Given the description of an element on the screen output the (x, y) to click on. 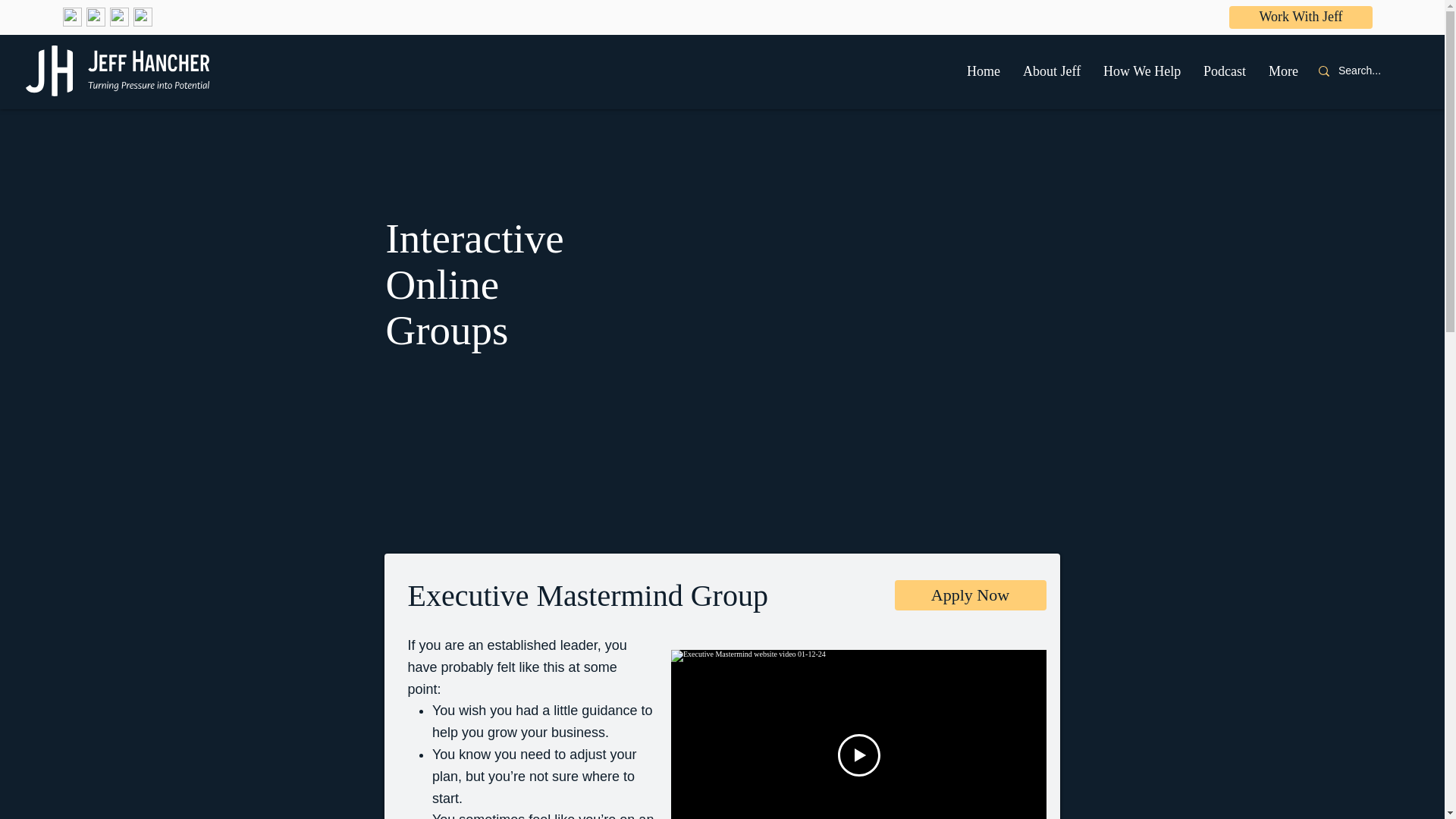
Podcast (1224, 71)
About Jeff (1051, 71)
Work With Jeff (1300, 16)
Home (983, 71)
Apply Now (970, 594)
